Given the description of an element on the screen output the (x, y) to click on. 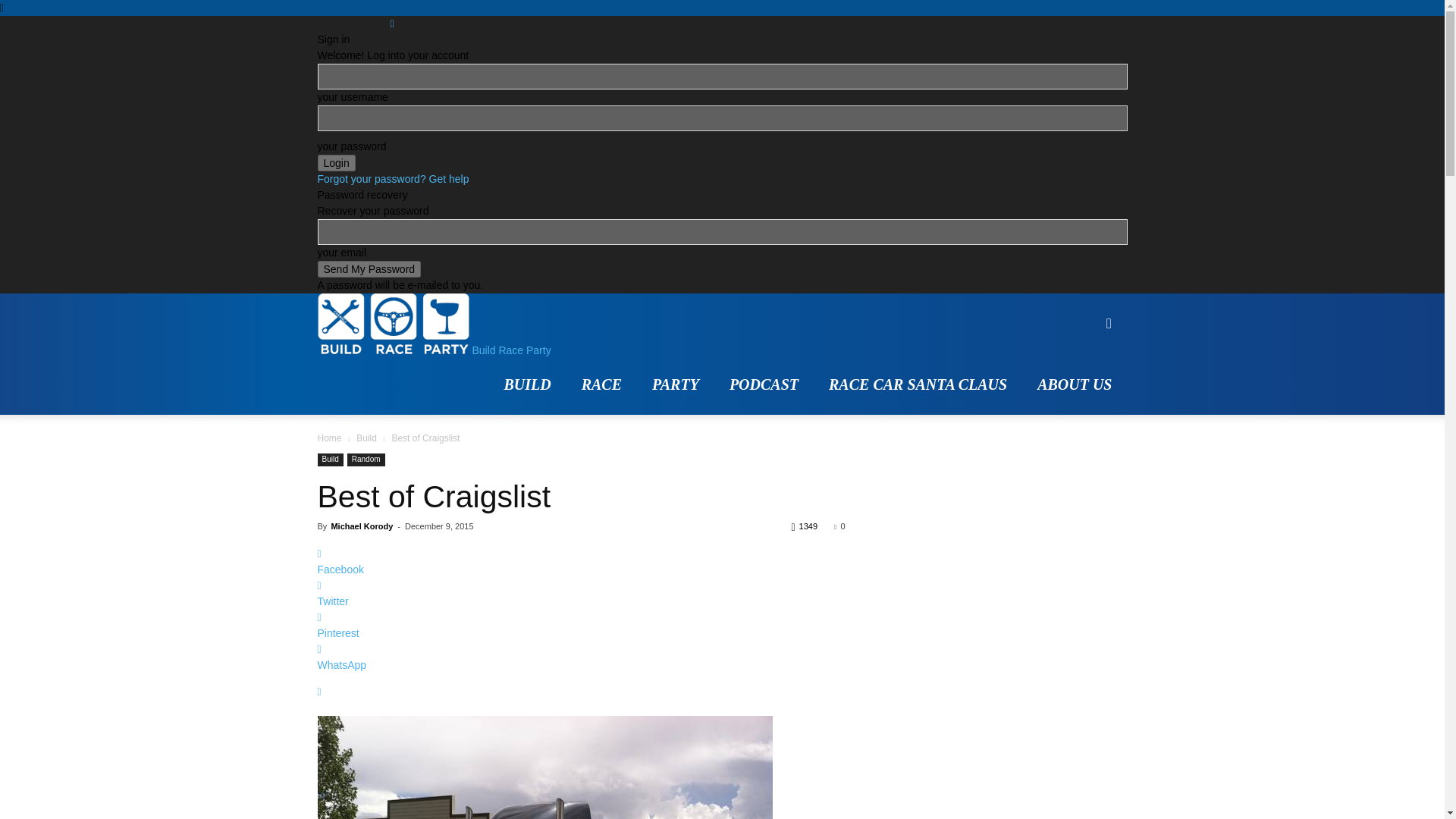
View all posts in Build (366, 438)
Select this to only see articles about Partying Around Cars (675, 383)
Login (336, 162)
Send My Password (368, 269)
Select this to only see articles about Building Cars (526, 383)
